Given the description of an element on the screen output the (x, y) to click on. 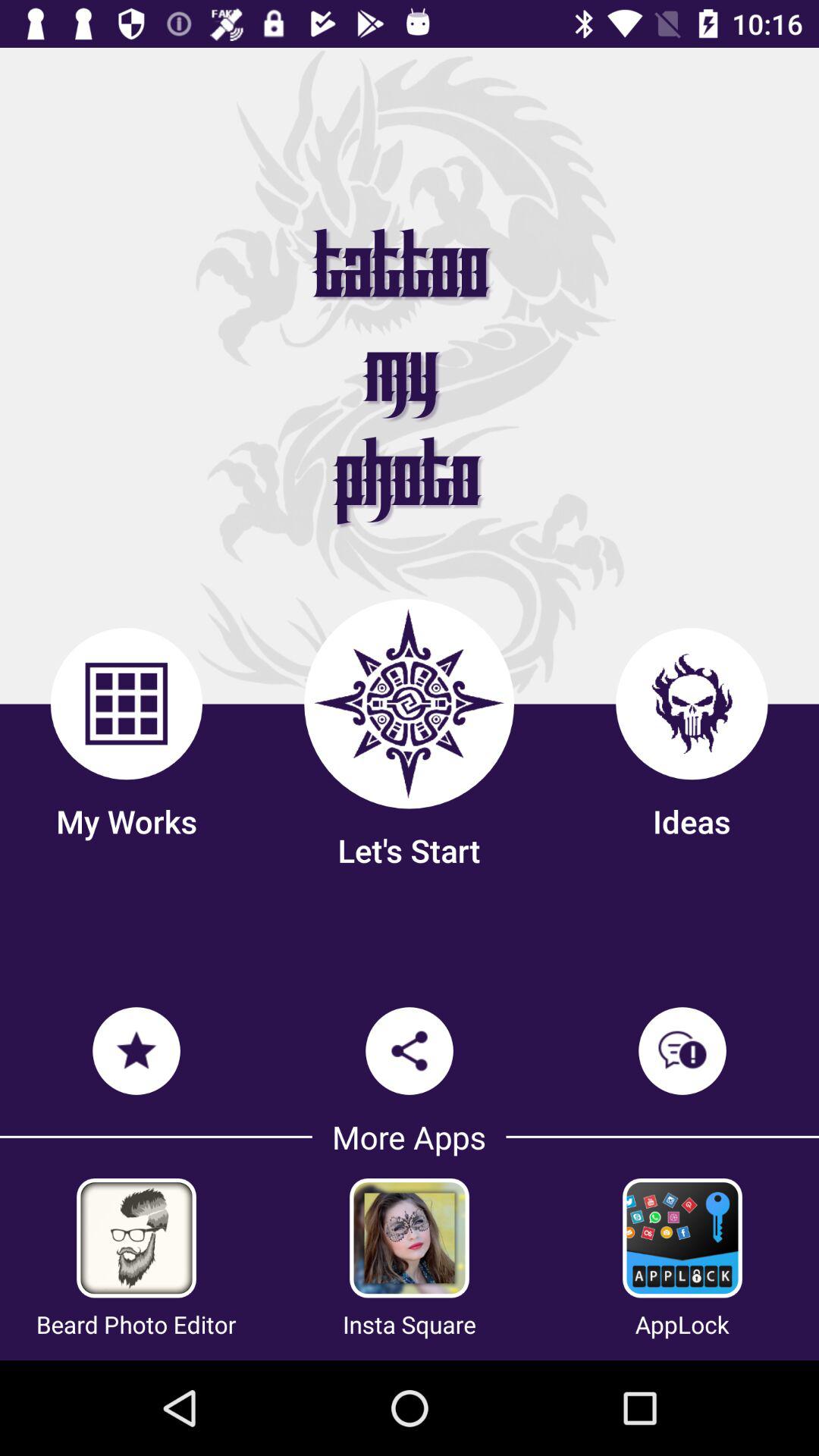
get insta square app (409, 1237)
